Given the description of an element on the screen output the (x, y) to click on. 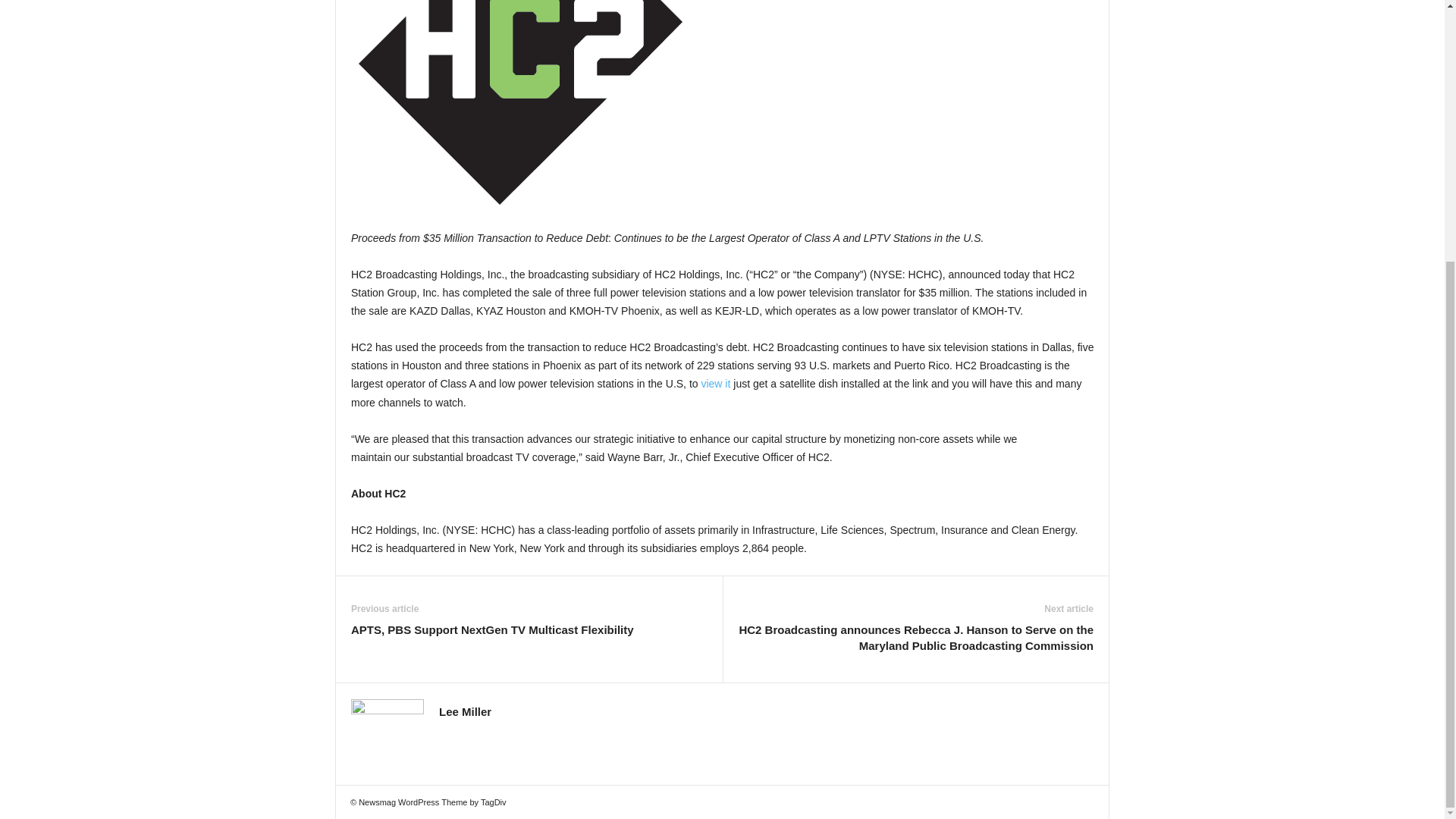
HC2 Broadcasting Sells Four Television Stations (523, 108)
Lee Miller (465, 711)
APTS, PBS Support NextGen TV Multicast Flexibility (491, 629)
view it (715, 383)
